Given the description of an element on the screen output the (x, y) to click on. 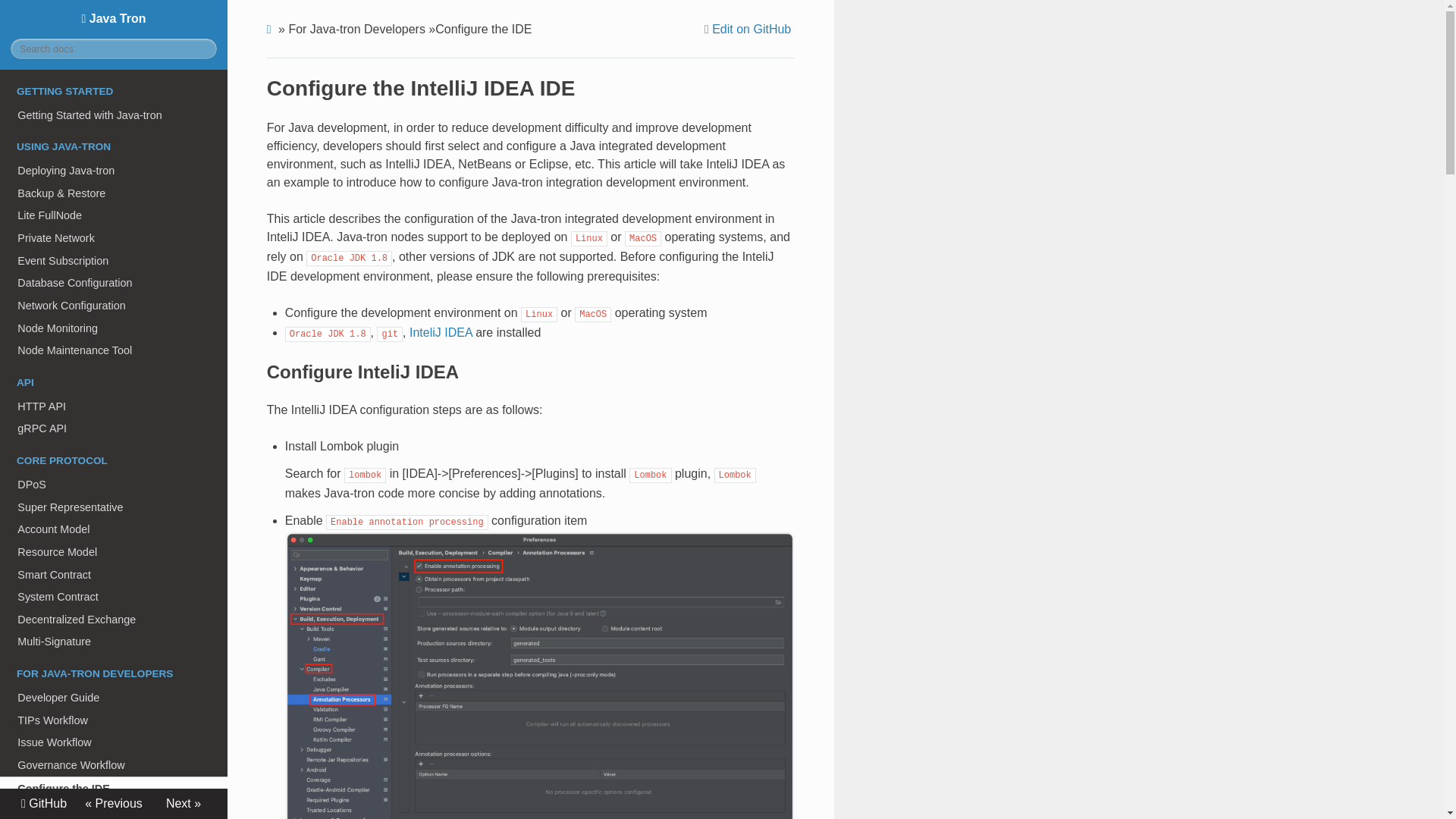
Account Model (113, 529)
Multi-Signature (113, 641)
Node Monitoring (113, 327)
System Contract (113, 596)
Decentralized Exchange (113, 619)
Resource Model (113, 551)
Issue Workflow (113, 742)
Type search term here (113, 48)
Configure the IDE (113, 788)
Node Maintenance Tool (113, 350)
